Given the description of an element on the screen output the (x, y) to click on. 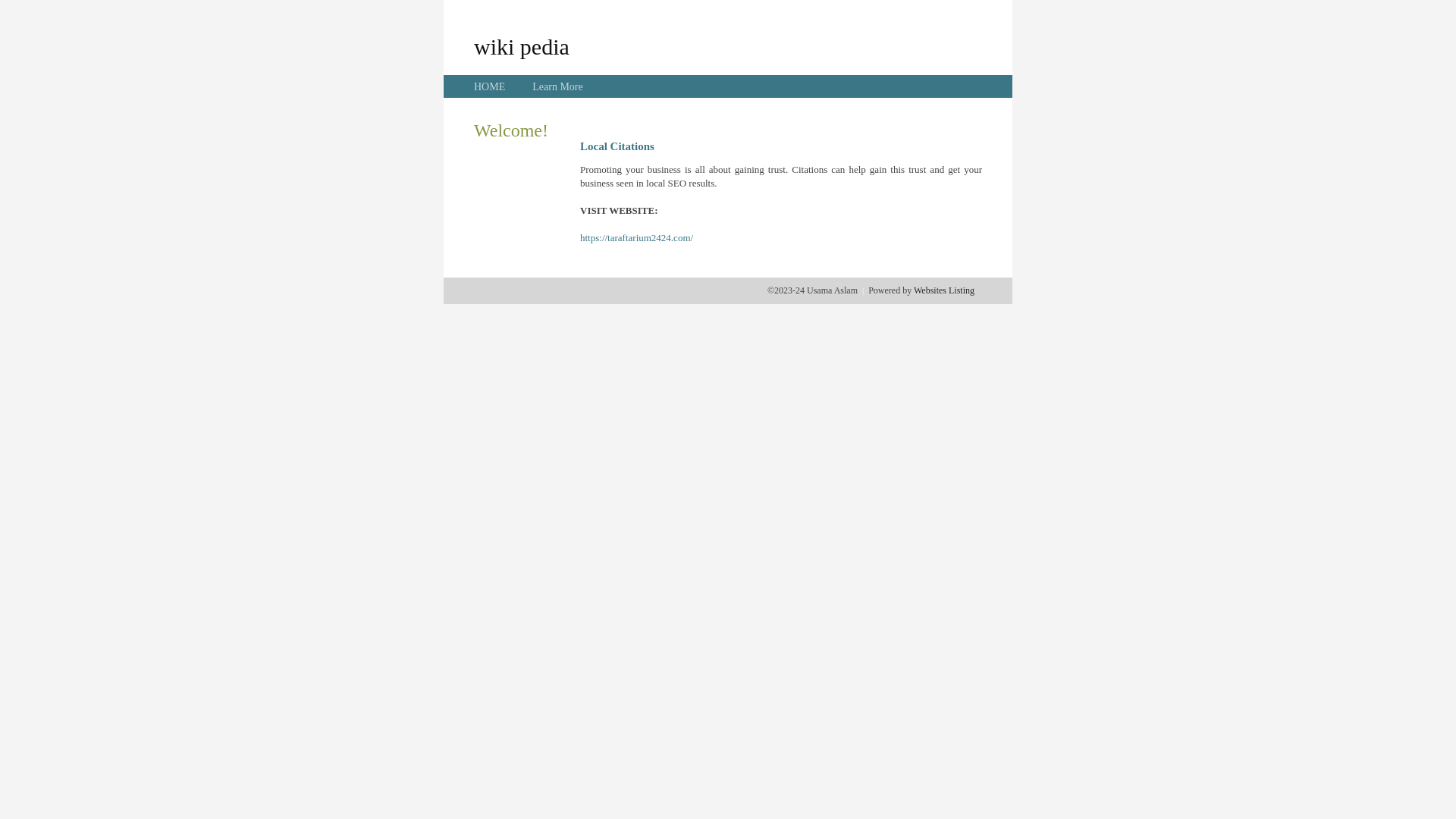
https://taraftarium2424.com/ Element type: text (636, 237)
Learn More Element type: text (557, 86)
Websites Listing Element type: text (943, 290)
wiki pedia Element type: text (521, 46)
HOME Element type: text (489, 86)
